Given the description of an element on the screen output the (x, y) to click on. 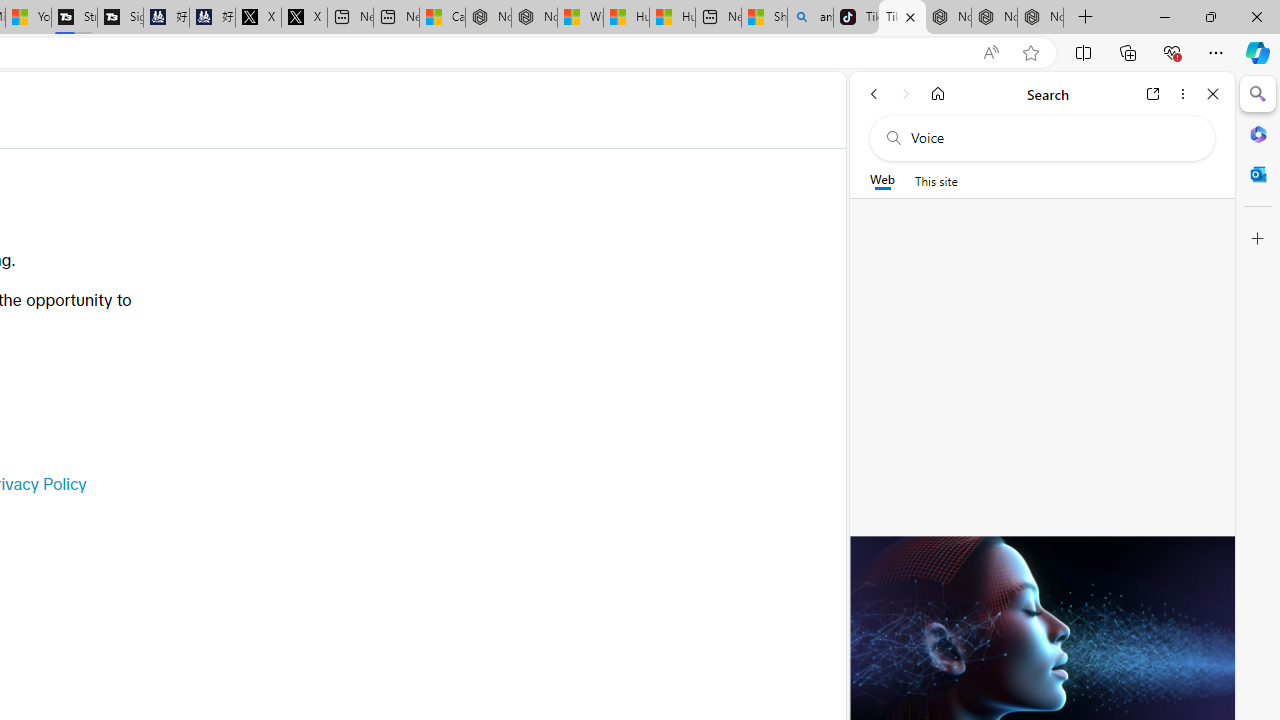
Web scope (882, 180)
Nordace - Siena Pro 15 Essential Set (1040, 17)
Open link in new tab (1153, 93)
